Given the description of an element on the screen output the (x, y) to click on. 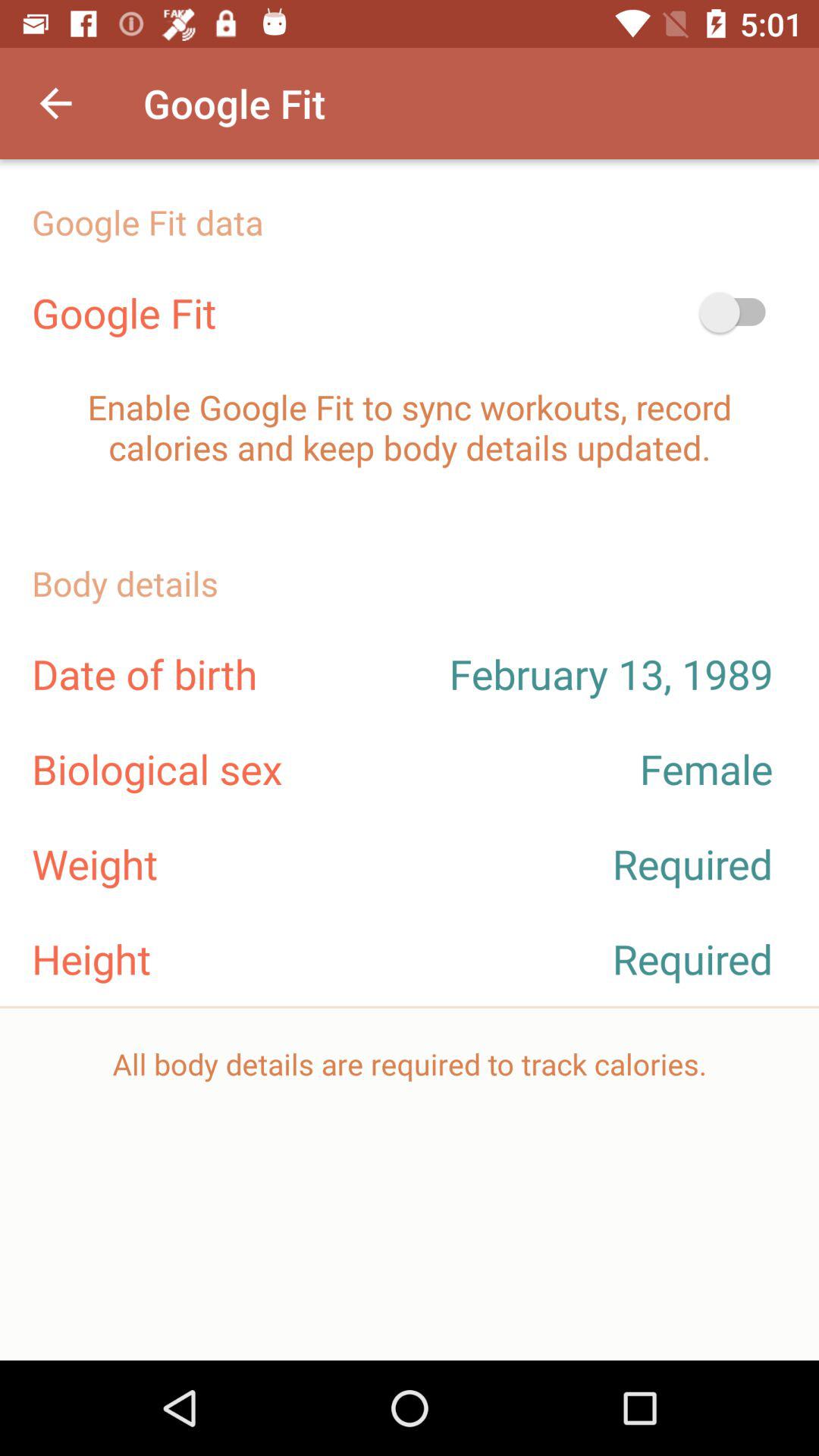
open icon above google fit data item (55, 103)
